Given the description of an element on the screen output the (x, y) to click on. 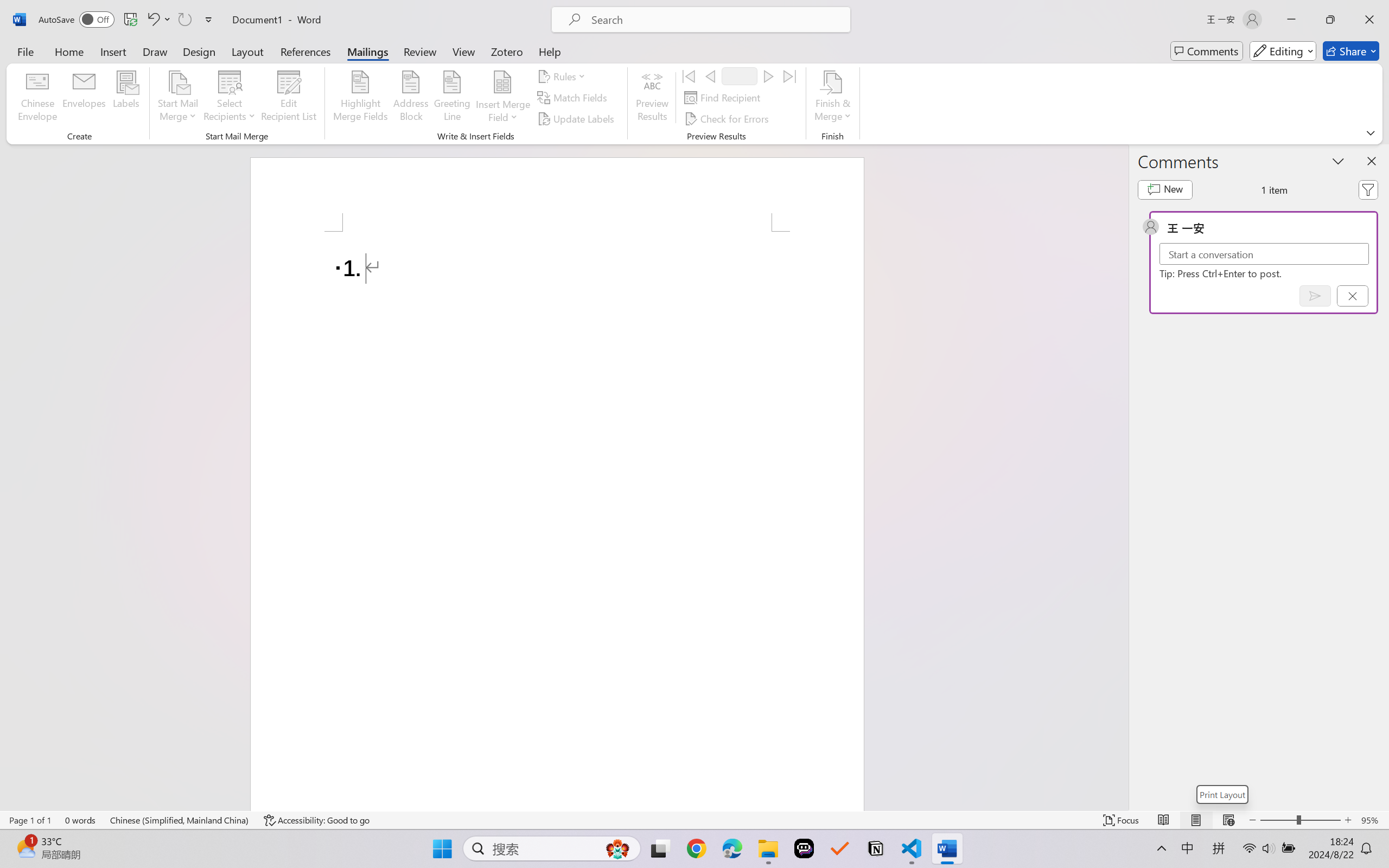
Undo Number Default (152, 19)
New comment (1165, 189)
Start Mail Merge (177, 97)
Chinese Envelope... (37, 97)
Finish & Merge (832, 97)
First (688, 75)
Undo Number Default (158, 19)
